Given the description of an element on the screen output the (x, y) to click on. 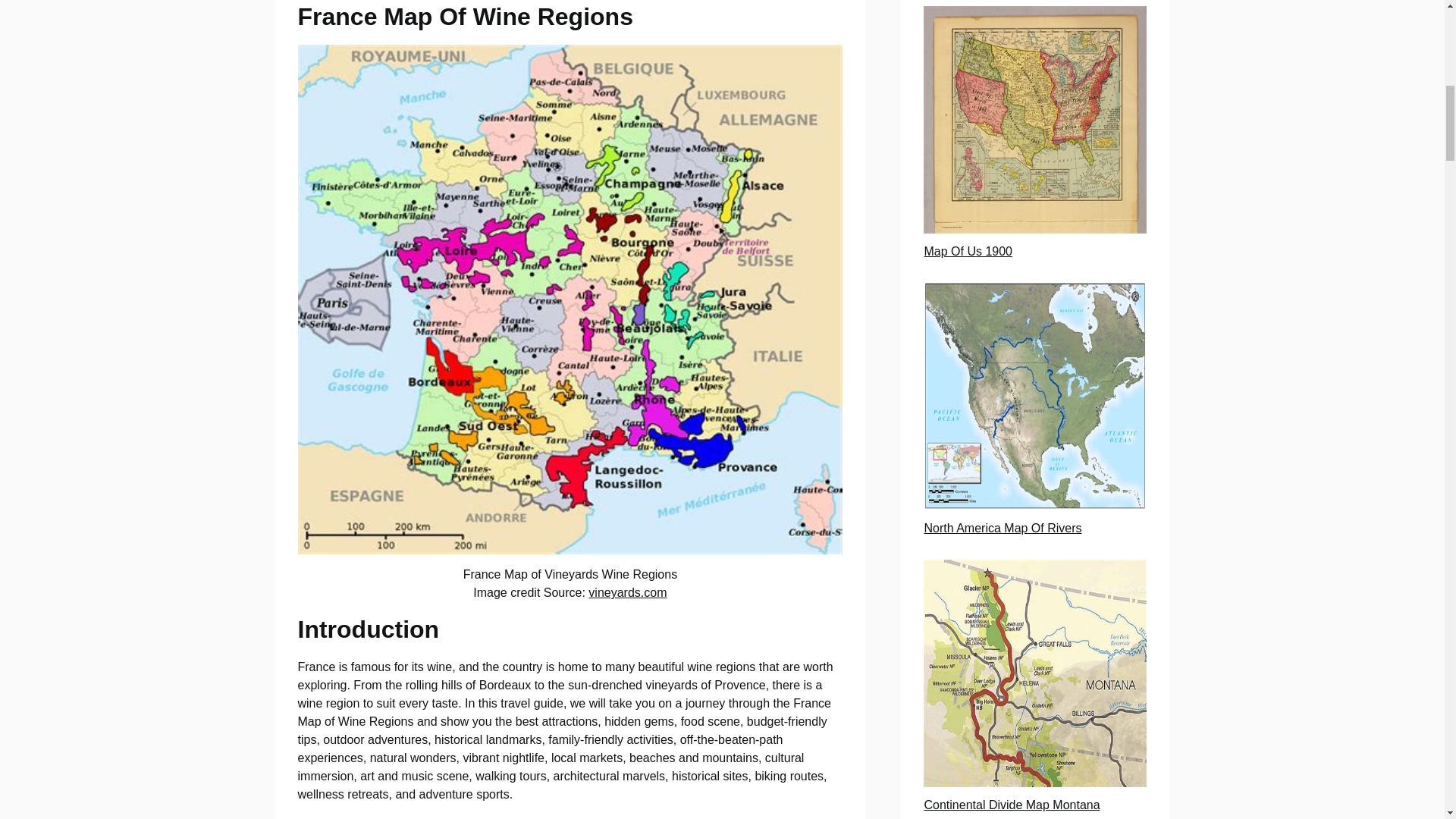
Continental Divide Map Montana (1011, 804)
Map Of Us 1900 (967, 250)
North America Map Of Rivers (1002, 527)
vineyards.com (627, 592)
